Given the description of an element on the screen output the (x, y) to click on. 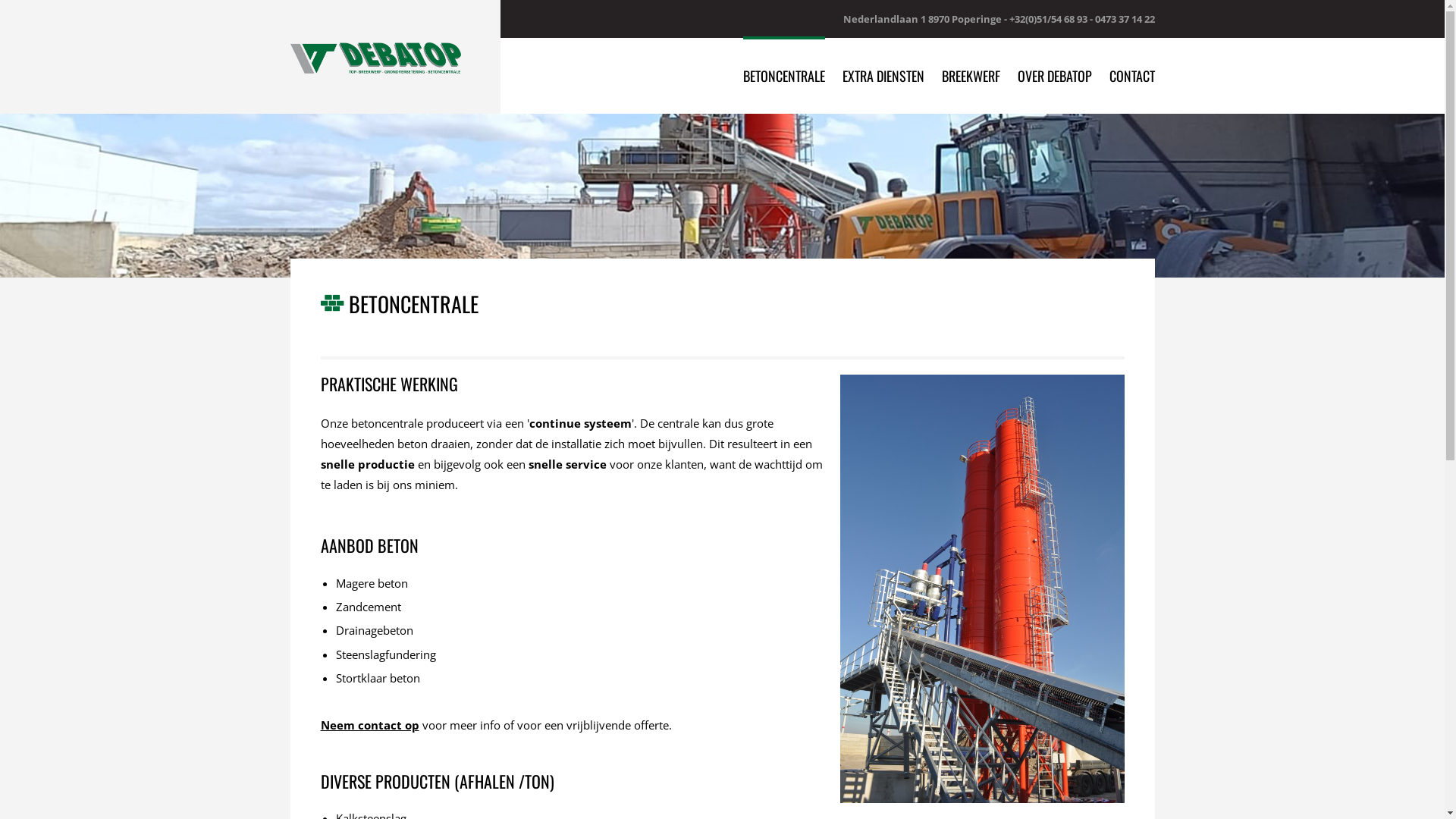
OVER DEBATOP Element type: text (1054, 75)
+32(0)51/54 68 93 Element type: text (1047, 18)
BETONCENTRALE Element type: text (784, 75)
0473 37 14 22 Element type: text (1124, 18)
EXTRA DIENSTEN Element type: text (882, 75)
BREEKWERF Element type: text (970, 75)
Neem contact op Element type: text (369, 724)
CONTACT Element type: text (1131, 75)
